Given the description of an element on the screen output the (x, y) to click on. 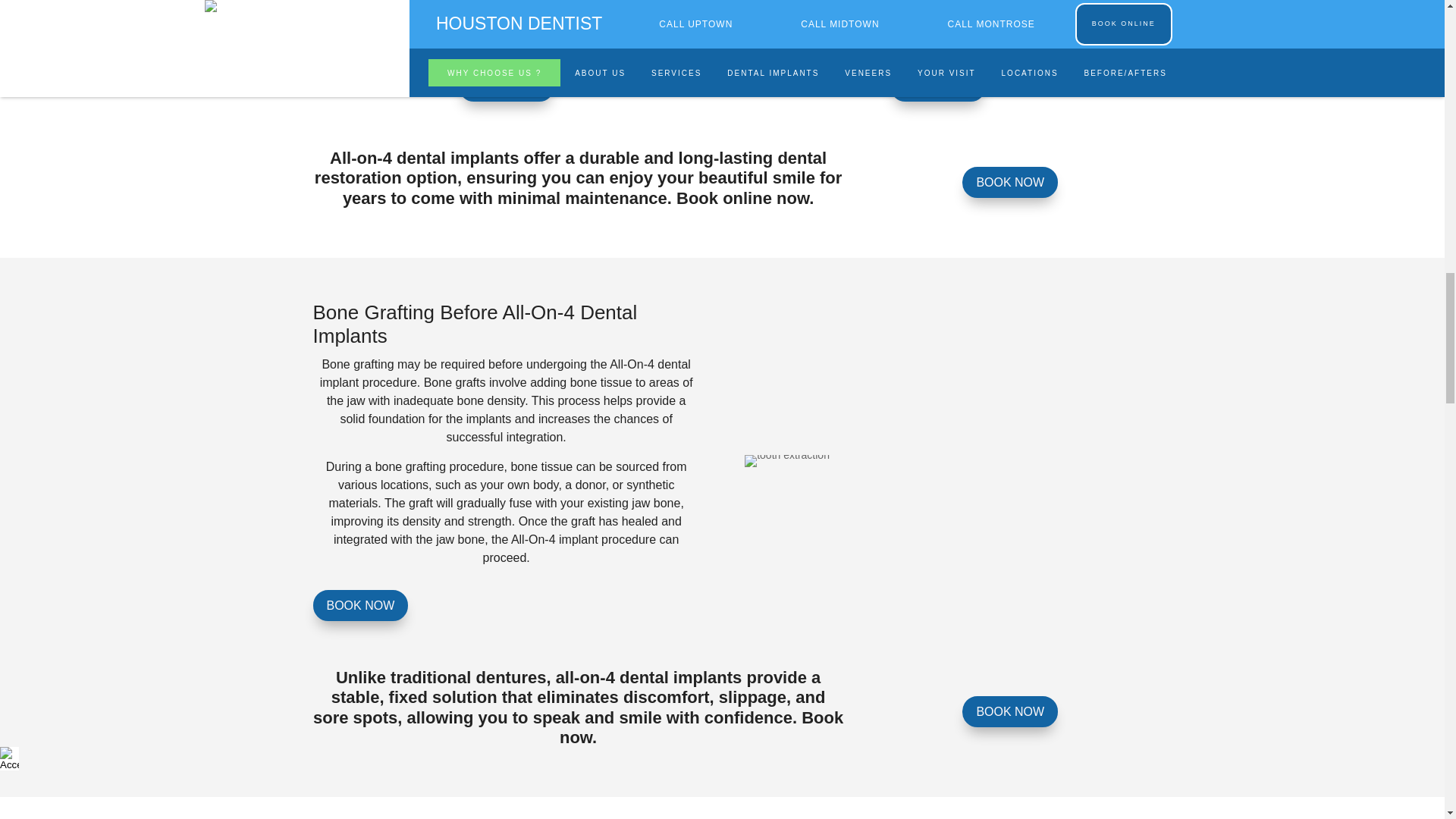
best-cosmetic-dentist-houston-tx (786, 460)
